Given the description of an element on the screen output the (x, y) to click on. 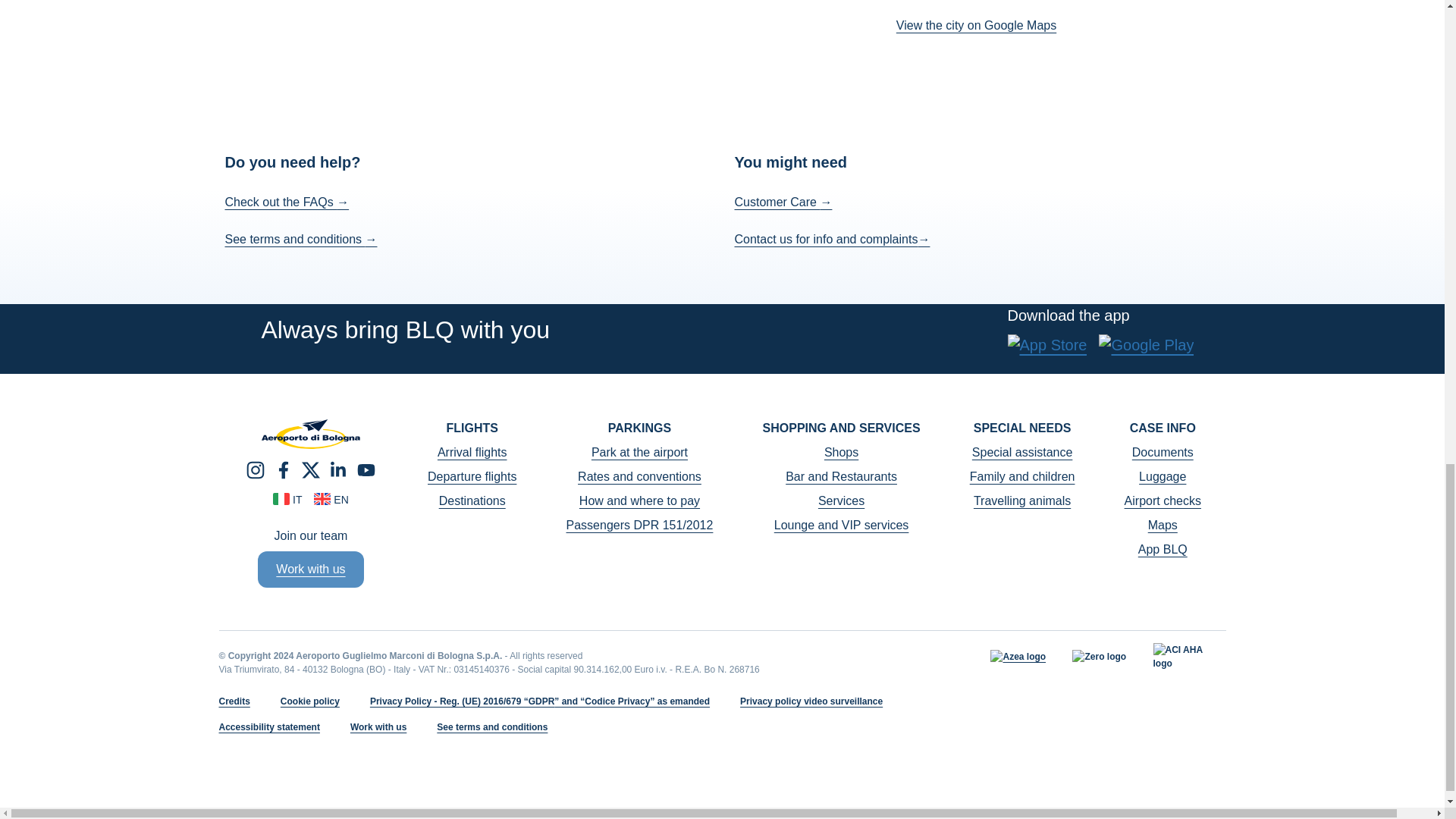
General Data Protection Regulation (541, 701)
